Given the description of an element on the screen output the (x, y) to click on. 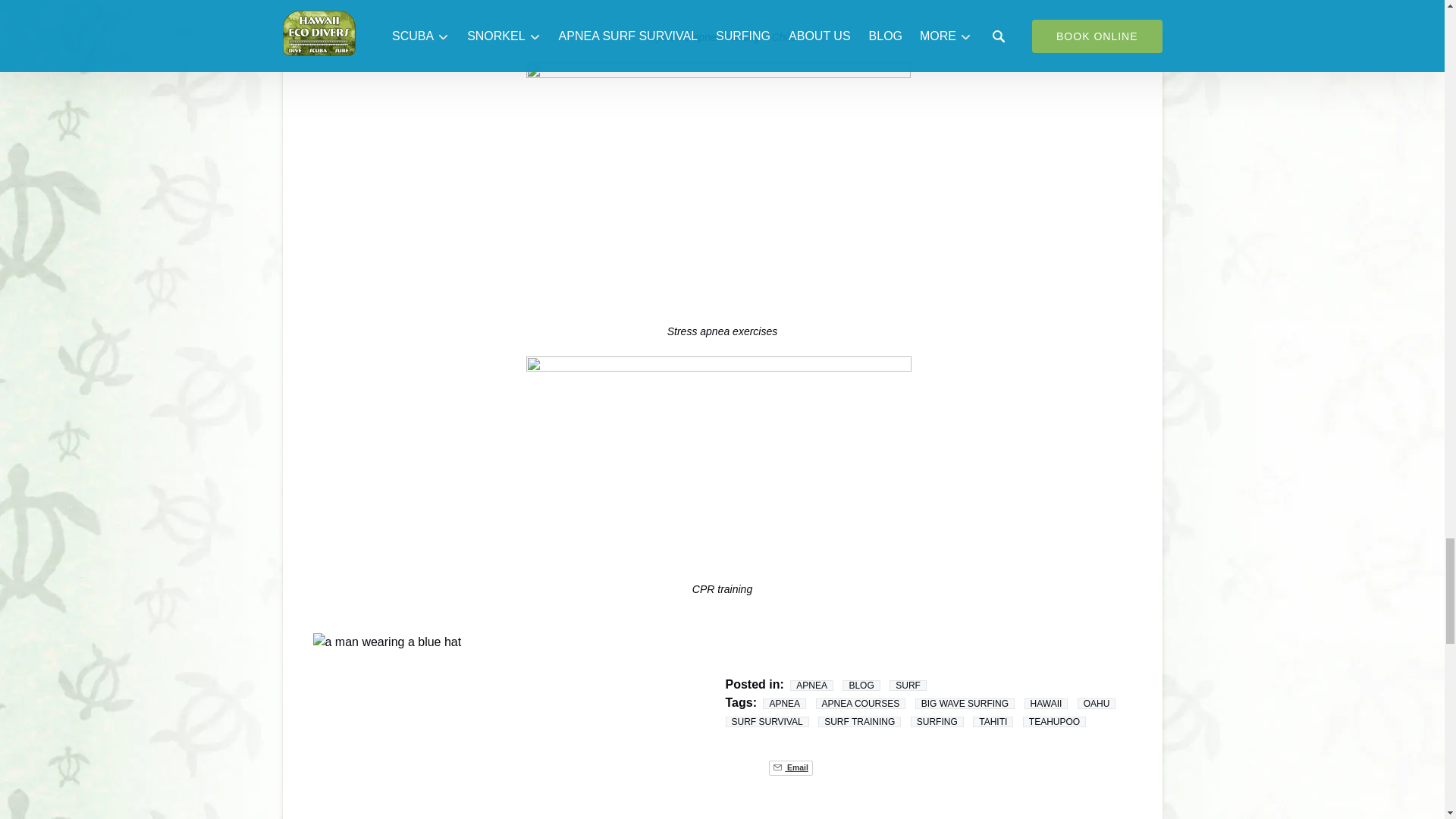
APNEA (811, 684)
BLOG (861, 684)
